Given the description of an element on the screen output the (x, y) to click on. 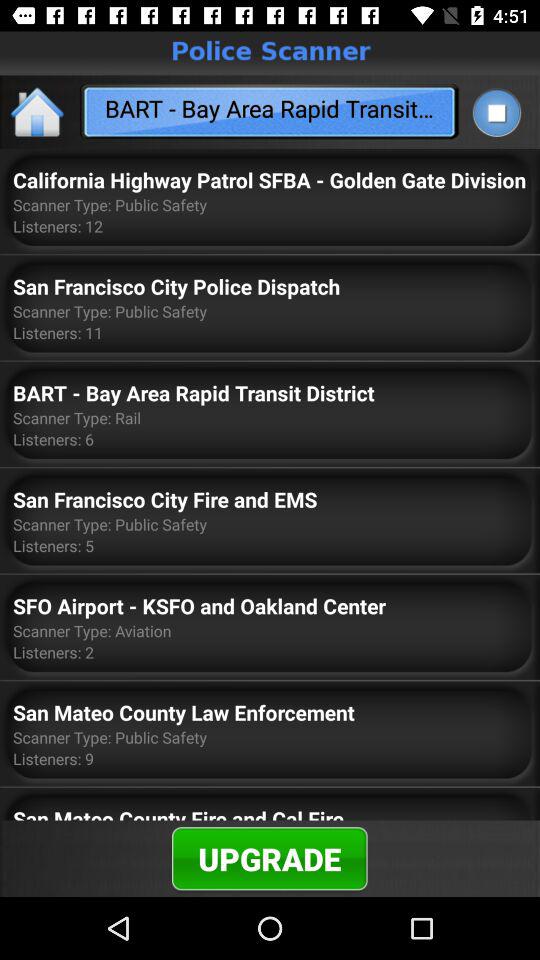
open the app next to bart bay area icon (496, 111)
